Given the description of an element on the screen output the (x, y) to click on. 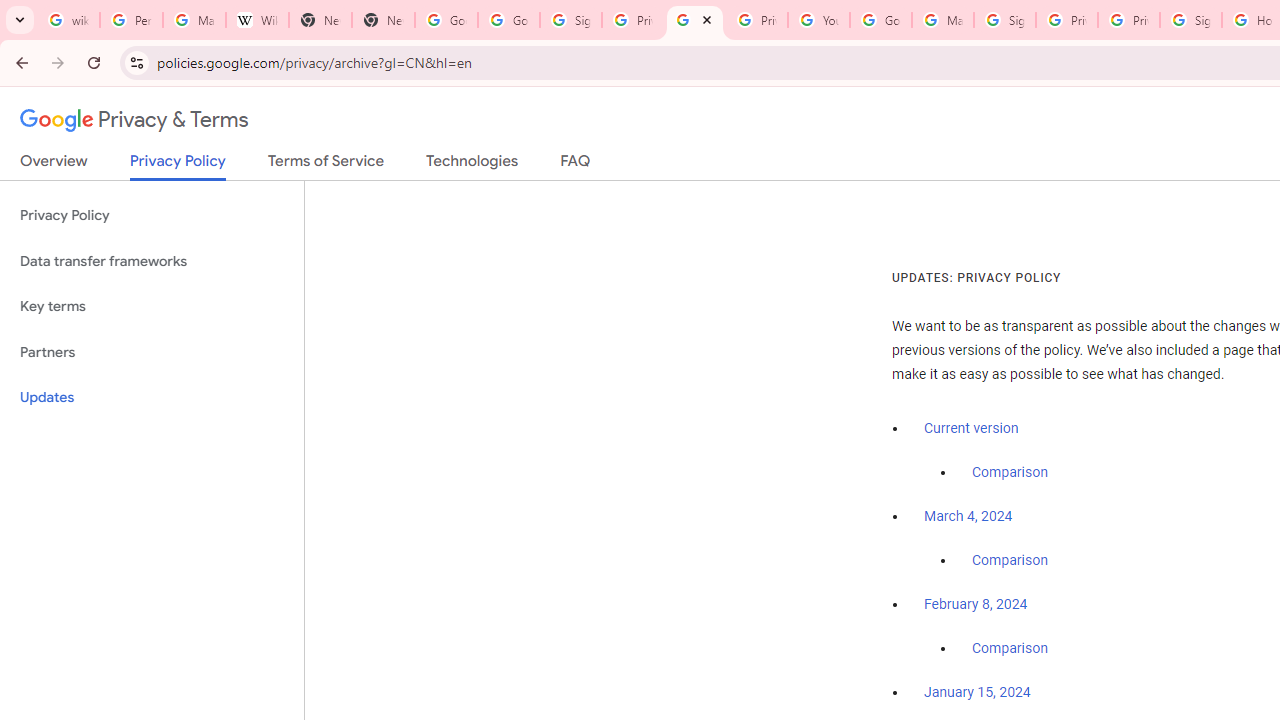
New Tab (320, 20)
Personalization & Google Search results - Google Search Help (130, 20)
Sign in - Google Accounts (1190, 20)
Google Drive: Sign-in (508, 20)
